Given the description of an element on the screen output the (x, y) to click on. 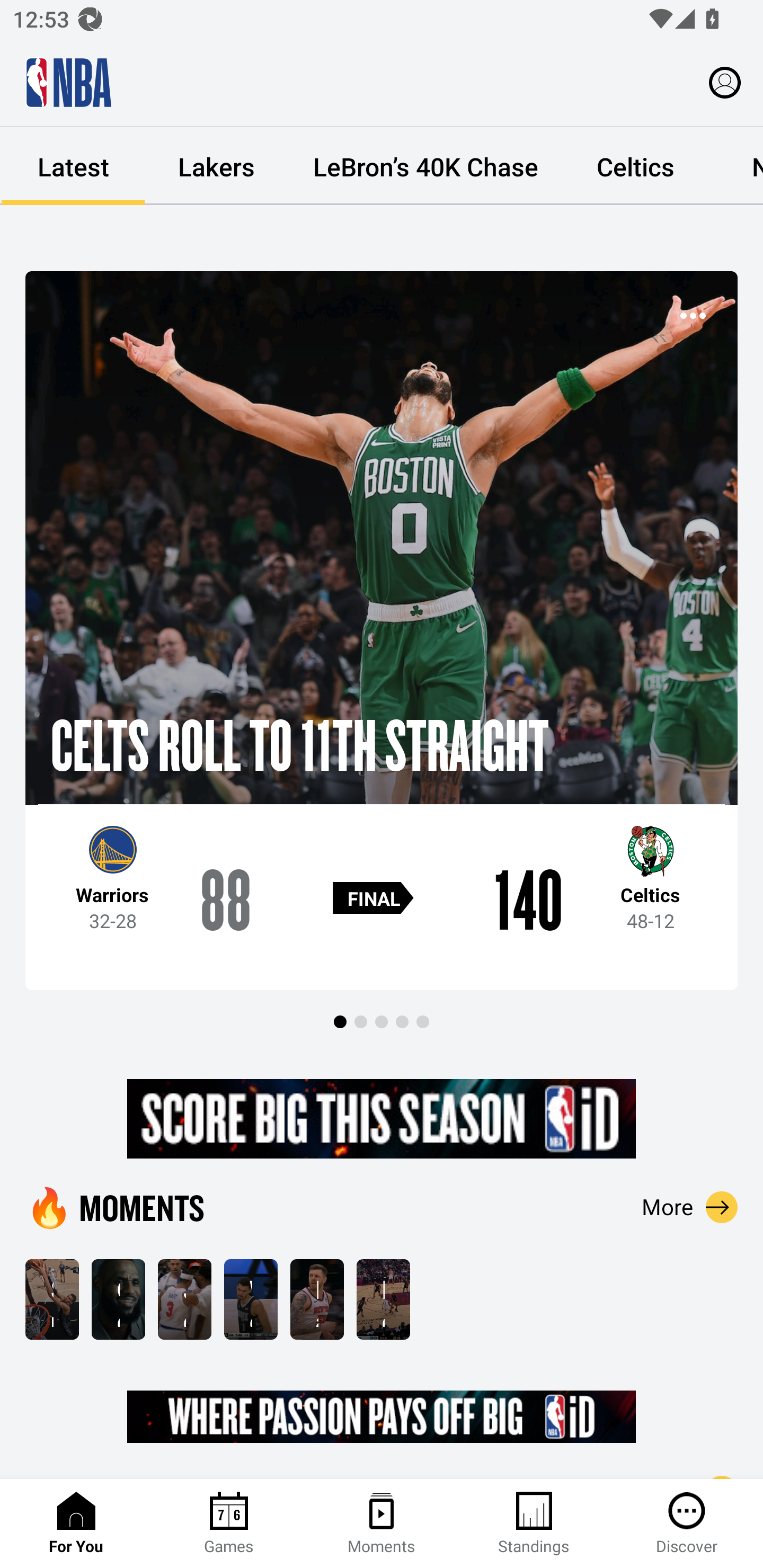
Profile (724, 81)
Lakers (215, 166)
LeBron’s 40K Chase (425, 166)
Celtics (634, 166)
More (689, 1207)
Sunday's Top Plays In 30 Seconds ⏱ (51, 1299)
Hartenstein Drops The Hammer 🔨 (317, 1299)
Games (228, 1523)
Moments (381, 1523)
Standings (533, 1523)
Discover (686, 1523)
